Given the description of an element on the screen output the (x, y) to click on. 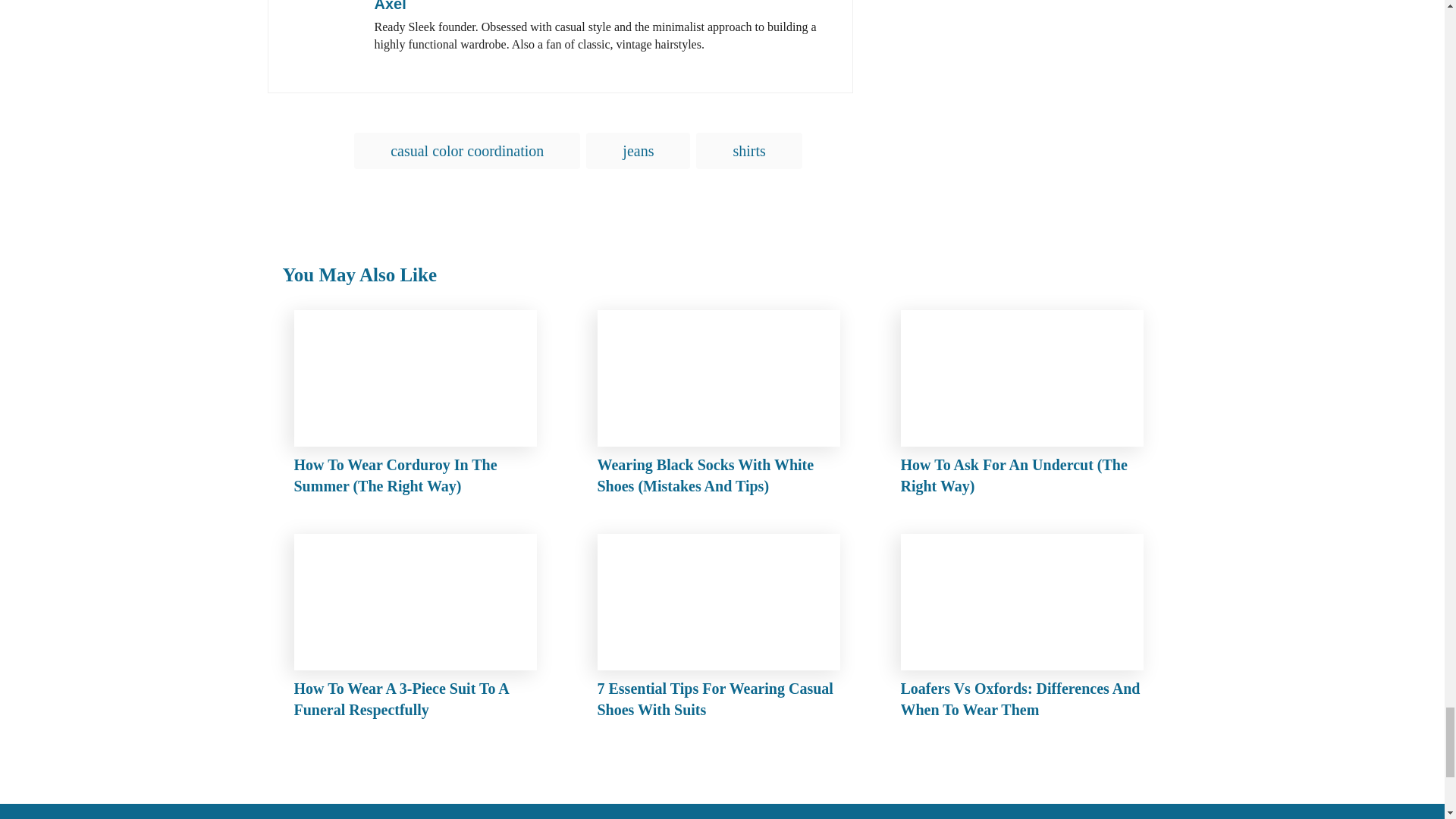
7 Essential Tips For Wearing Casual Shoes With Suits (721, 630)
How To Wear A 3-Piece Suit To A Funeral Respectfully (419, 630)
Loafers Vs Oxfords: Differences And When To Wear Them (1026, 630)
How To Wear A 3-Piece Suit To A Funeral Respectfully (419, 630)
casual color coordination (466, 150)
Axel (390, 6)
7 Essential Tips For Wearing Casual Shoes With Suits (721, 630)
jeans (638, 150)
shirts (748, 150)
Loafers Vs Oxfords: Differences And When To Wear Them (1026, 630)
